Given the description of an element on the screen output the (x, y) to click on. 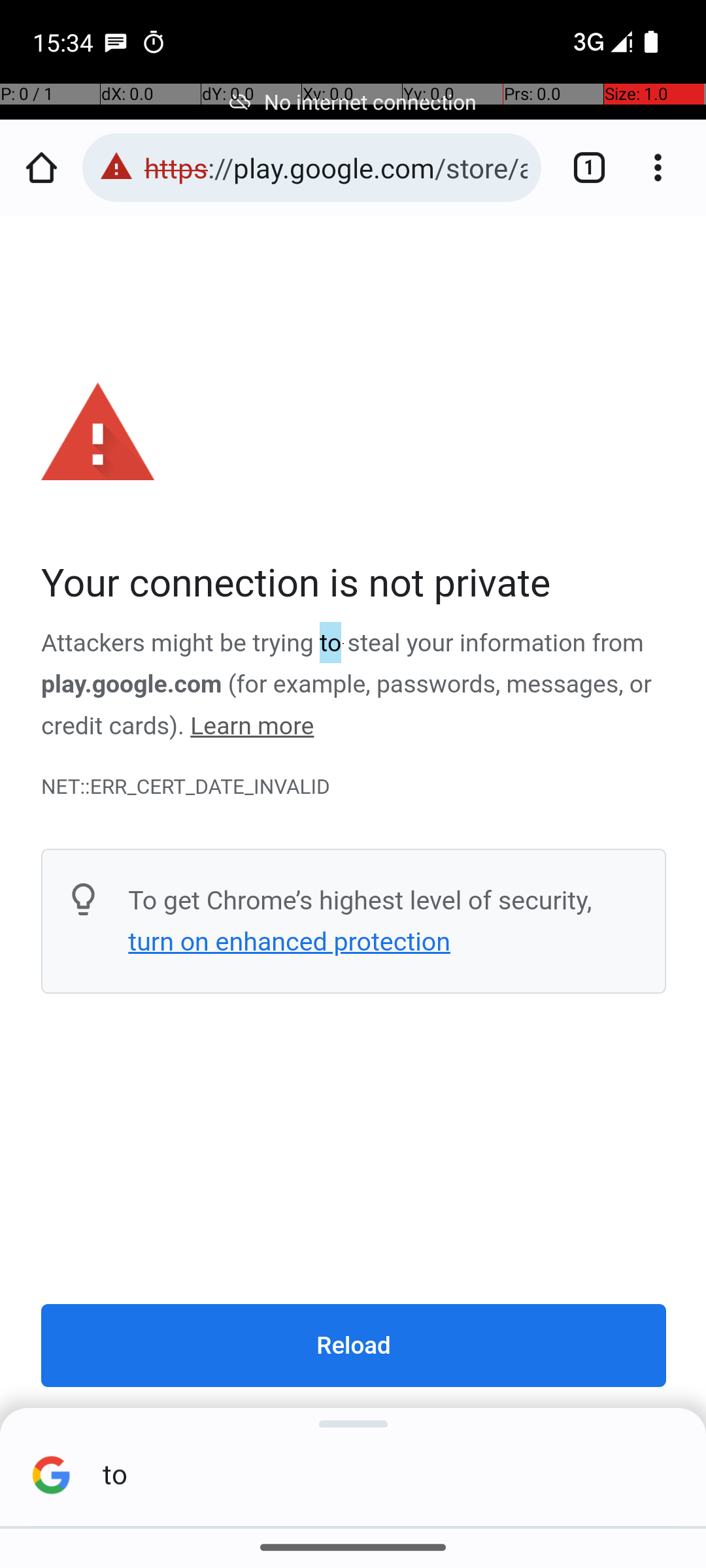
https://play.google.com/store/apps/details?id=com.google.android.apps.tachyon Element type: android.widget.EditText (335, 167)
play.google.com Element type: android.widget.TextView (131, 684)
